Given the description of an element on the screen output the (x, y) to click on. 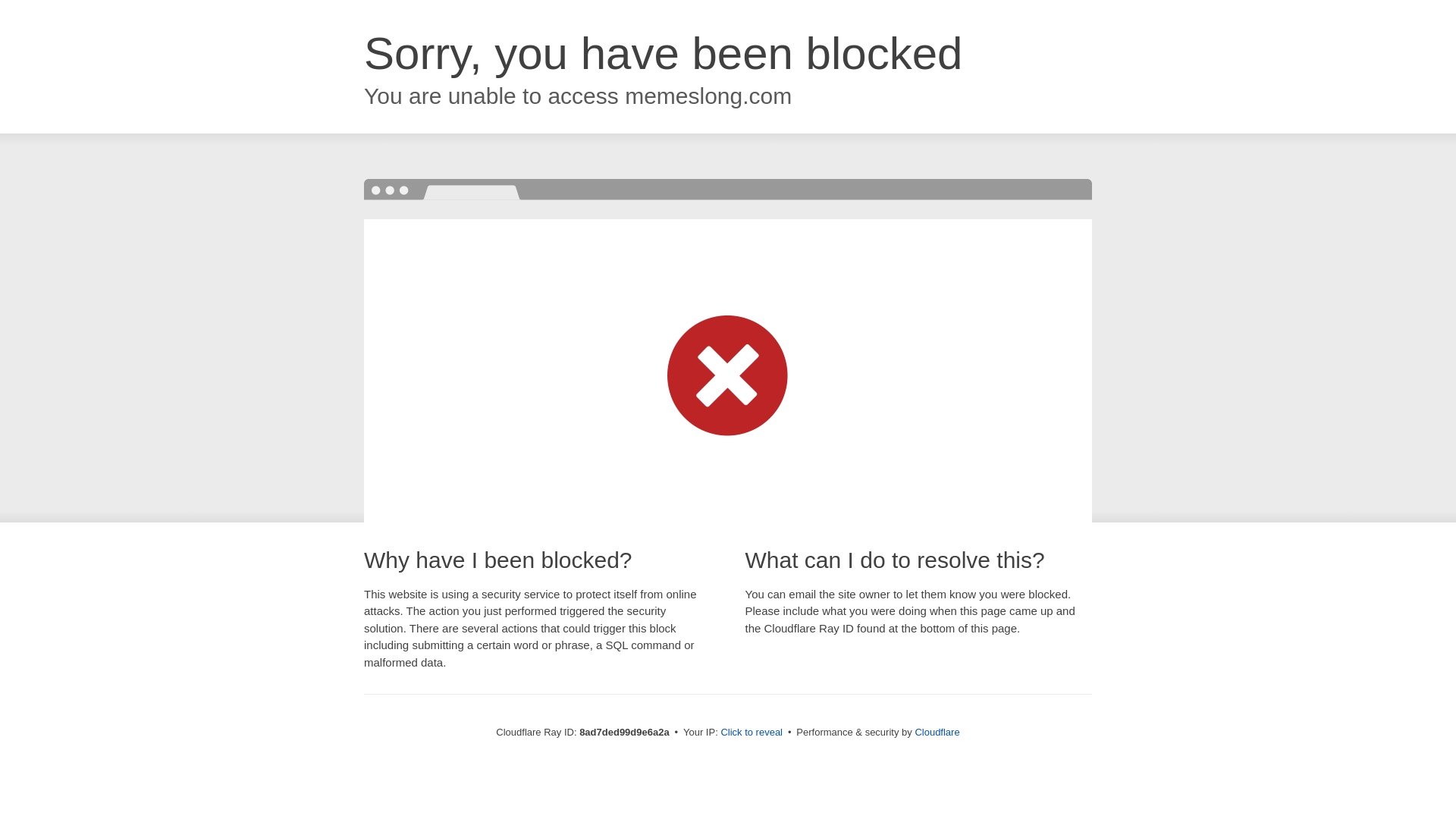
Click to reveal (751, 732)
Cloudflare (936, 731)
